Given the description of an element on the screen output the (x, y) to click on. 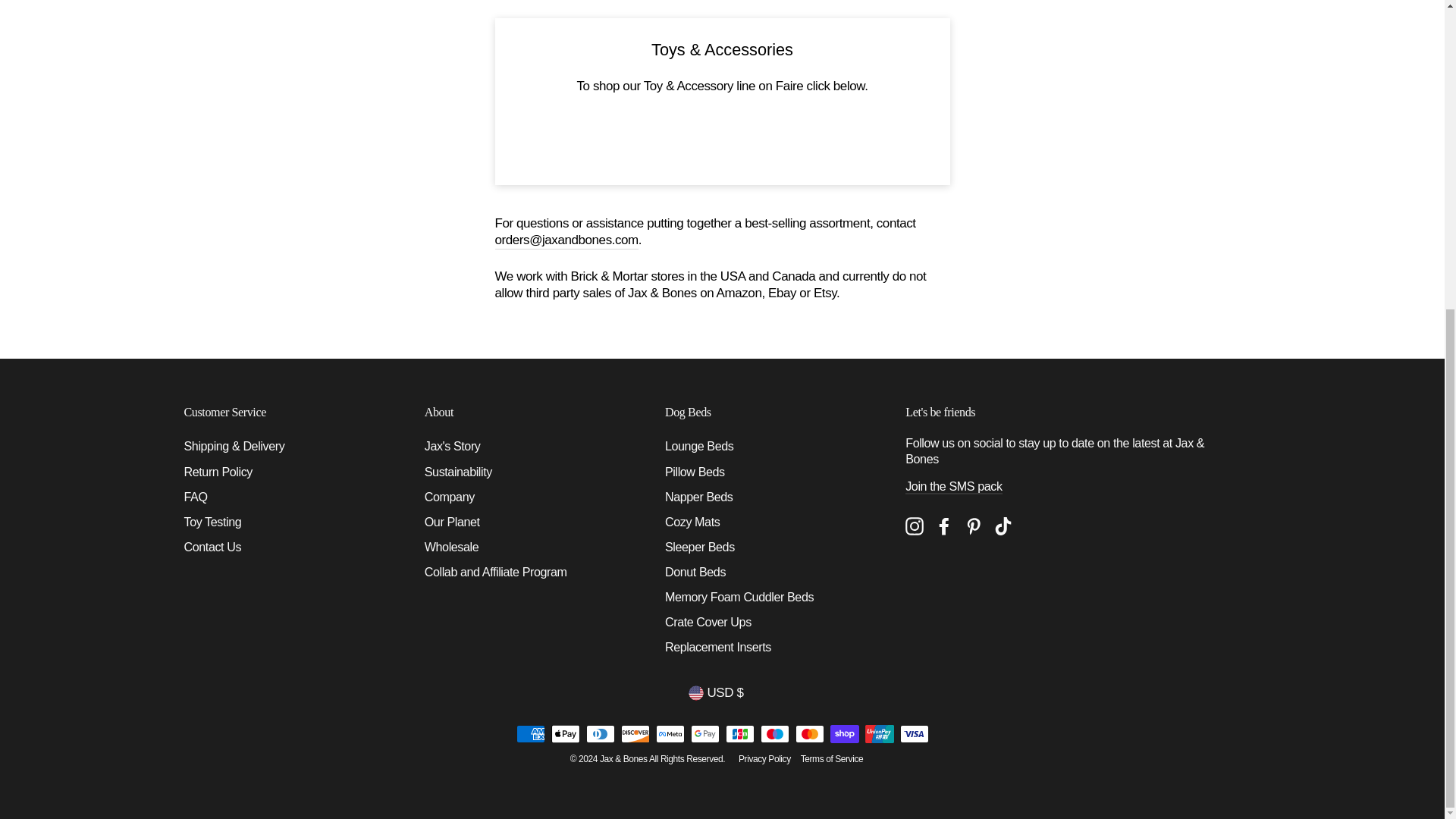
Discover (634, 733)
Apple Pay (564, 733)
American Express (529, 733)
Shop Pay (844, 733)
JCB (739, 733)
Google Pay (704, 733)
Maestro (774, 733)
Mastercard (809, 733)
Meta Pay (669, 733)
Diners Club (599, 733)
Union Pay (878, 733)
